Given the description of an element on the screen output the (x, y) to click on. 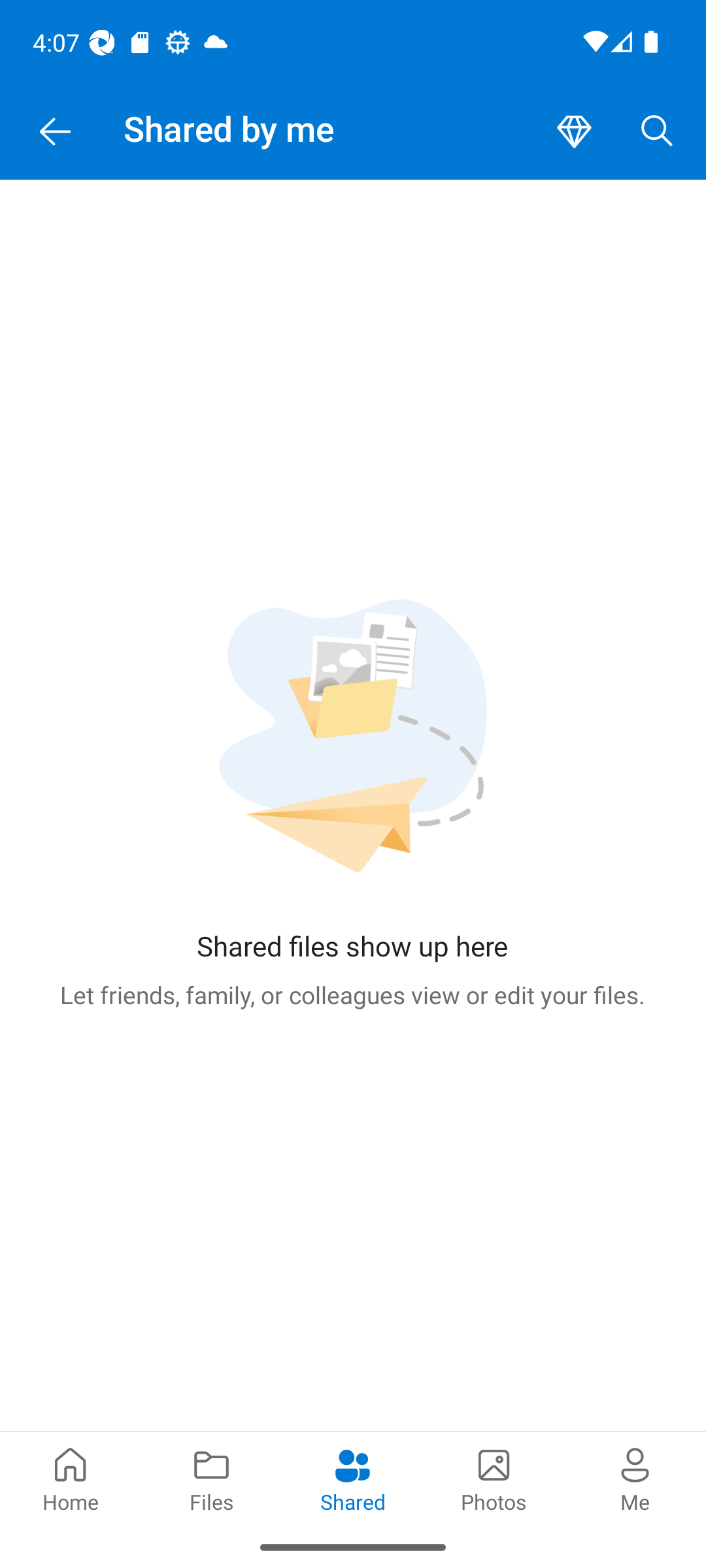
Navigate Up (55, 131)
Premium button (574, 131)
Search button (656, 131)
Home pivot Home (70, 1478)
Files pivot Files (211, 1478)
Photos pivot Photos (493, 1478)
Me pivot Me (635, 1478)
